Given the description of an element on the screen output the (x, y) to click on. 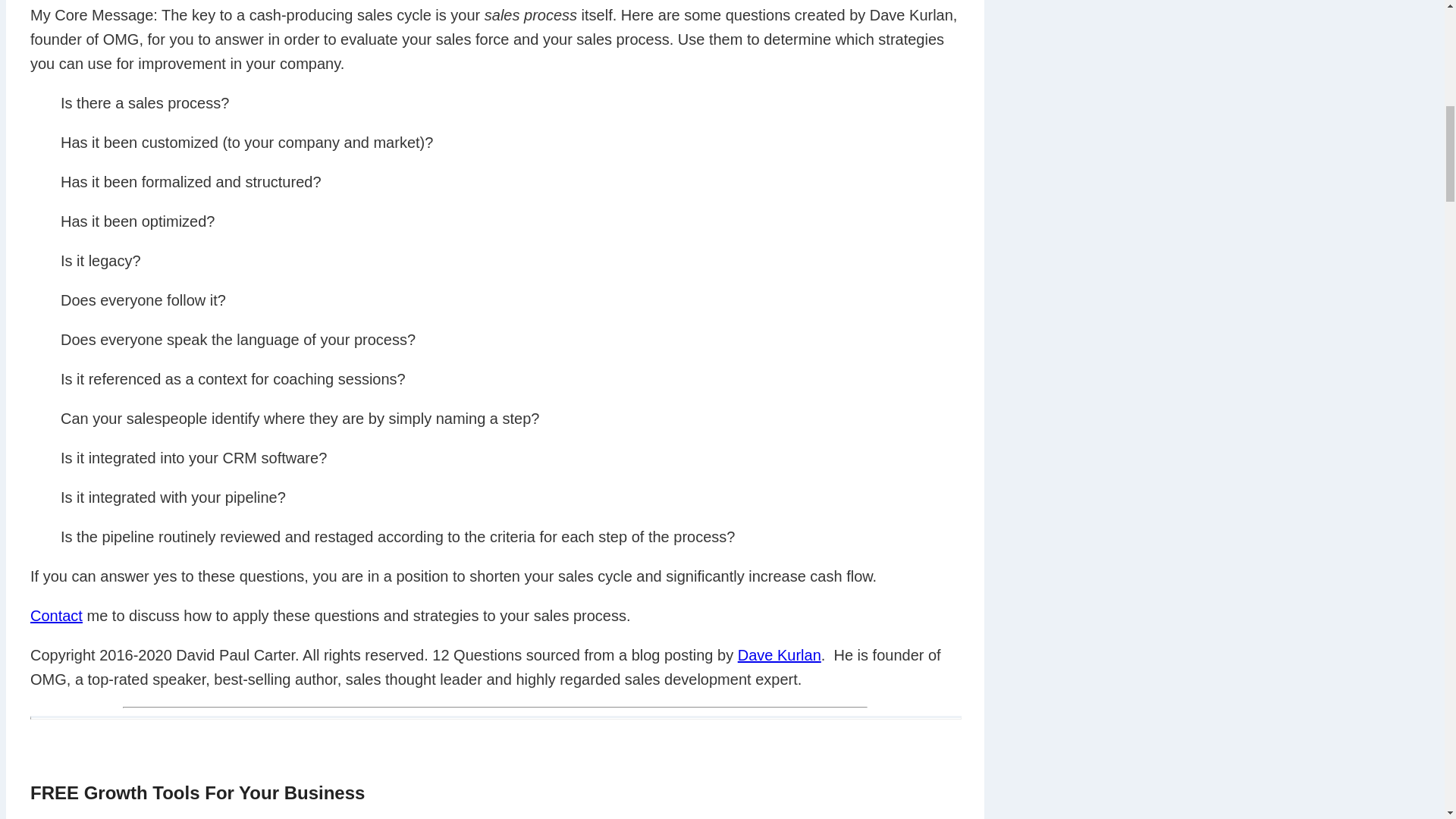
Contact (56, 615)
Dave Kurlan (779, 655)
